Given the description of an element on the screen output the (x, y) to click on. 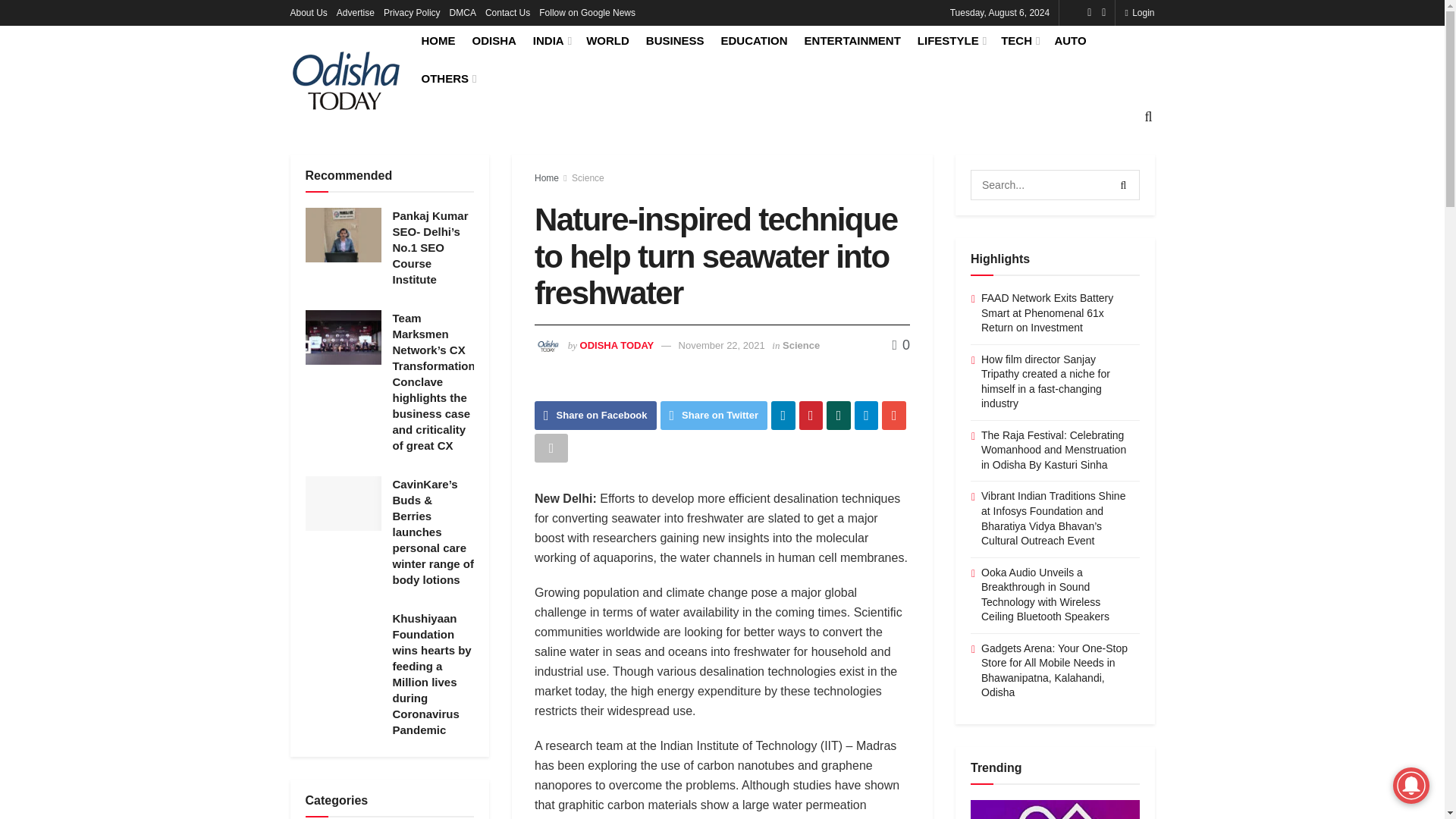
AUTO (1070, 40)
About Us (307, 12)
Privacy Policy (412, 12)
HOME (438, 40)
Login (1139, 12)
Follow on Google News (586, 12)
EDUCATION (753, 40)
ENTERTAINMENT (853, 40)
OTHERS (448, 78)
INDIA (550, 40)
